Given the description of an element on the screen output the (x, y) to click on. 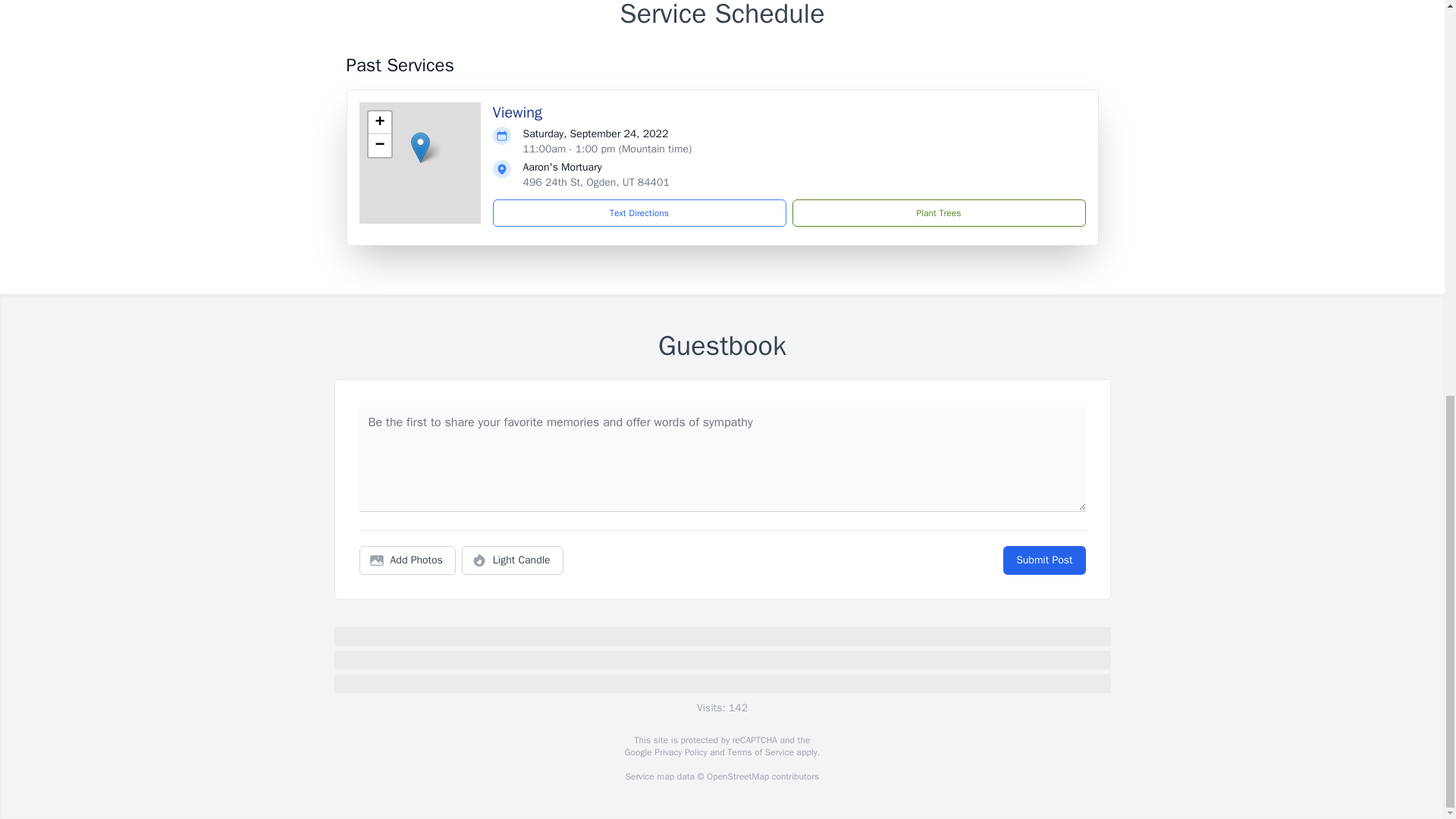
OpenStreetMap (737, 775)
Submit Post (1043, 559)
Light Candle (512, 559)
Privacy Policy (679, 751)
Terms of Service (759, 751)
Plant Trees (938, 212)
Zoom out (379, 145)
496 24th St, Ogden, UT 84401 (595, 181)
Text Directions (639, 212)
Add Photos (407, 559)
